Given the description of an element on the screen output the (x, y) to click on. 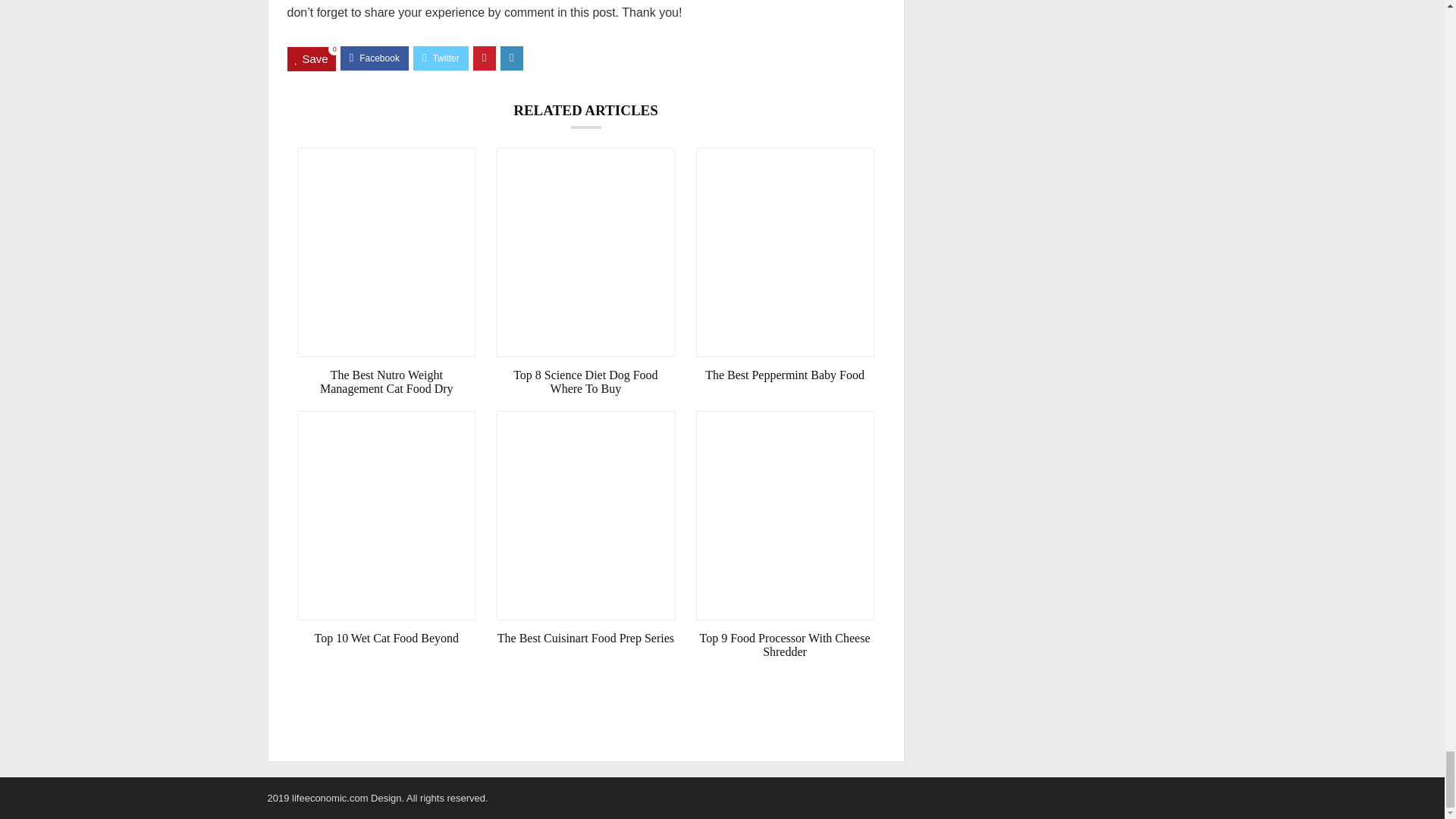
The Best Nutro Weight Management Cat Food Dry (386, 381)
Top 9 Food Processor With Cheese Shredder (785, 645)
Top 10 Wet Cat Food Beyond (386, 638)
The Best Cuisinart Food Prep Series (585, 638)
Top 8 Science Diet Dog Food Where To Buy (585, 381)
The Best Peppermint Baby Food (785, 375)
